Given the description of an element on the screen output the (x, y) to click on. 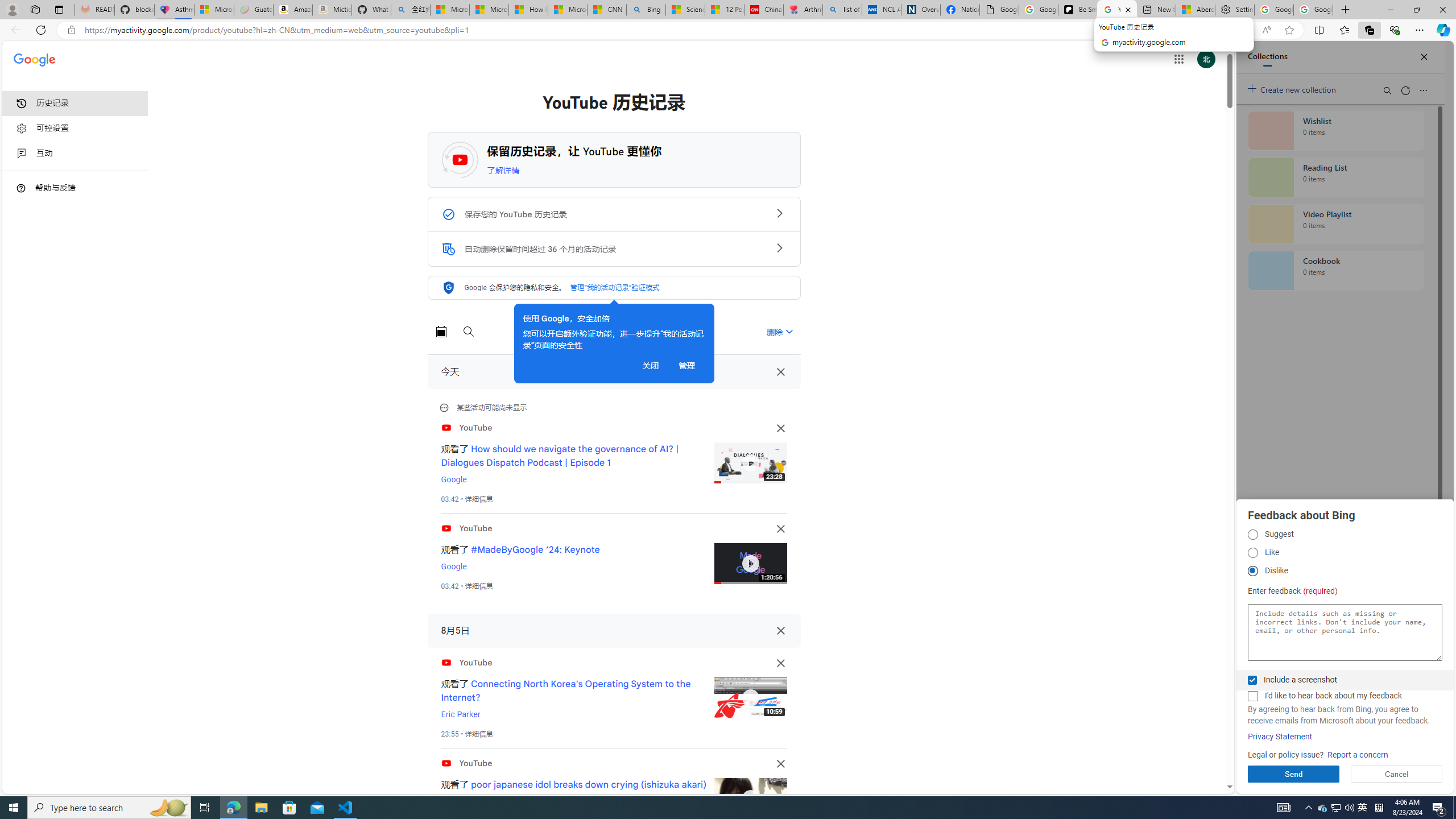
CNN - MSN (606, 9)
Class: k1qAtf NMm5M (448, 248)
Report a concern (1358, 755)
